Given the description of an element on the screen output the (x, y) to click on. 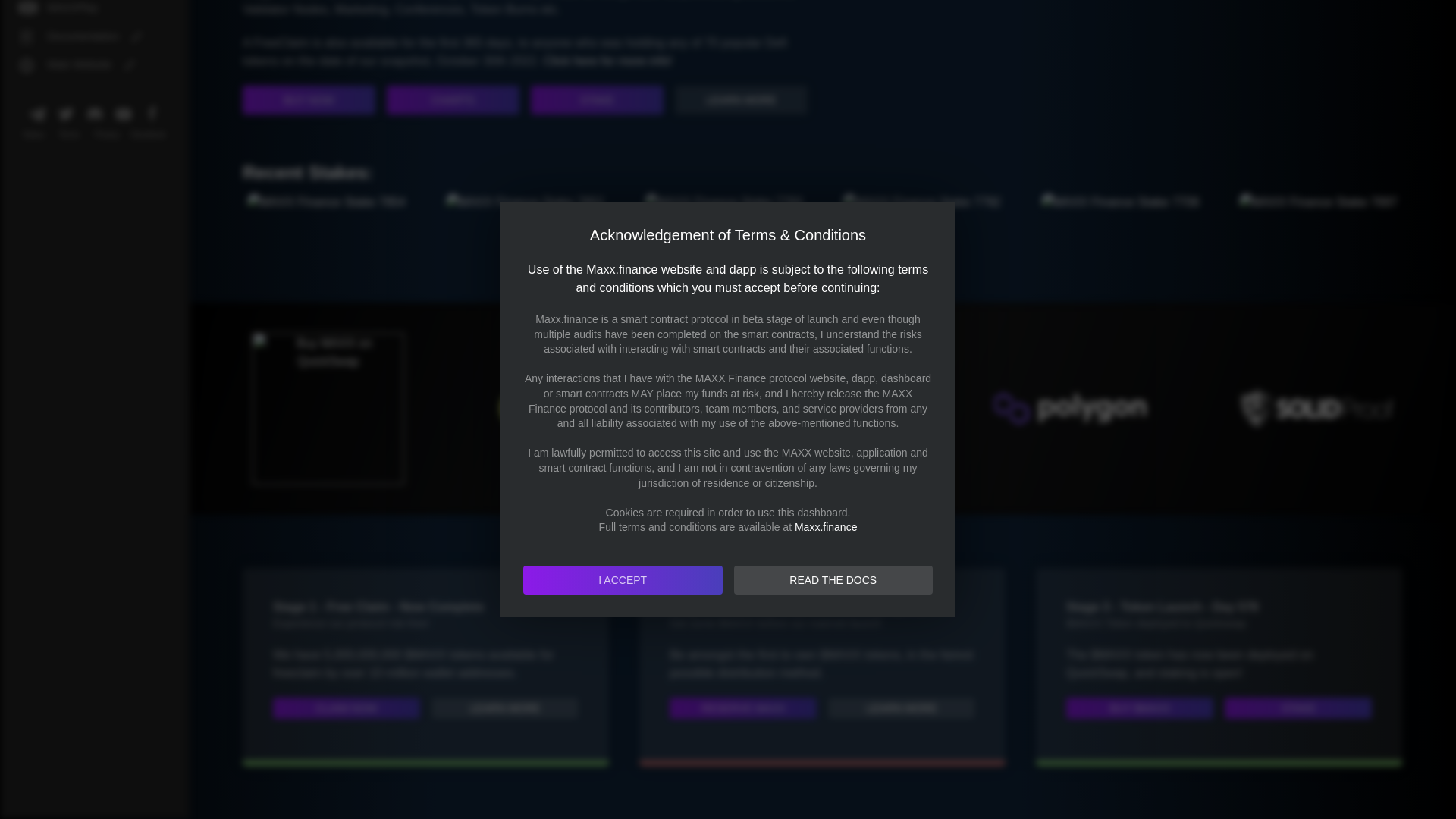
MAXX Finance Stake 7852 (524, 202)
MAXX Finance Stake 7792 (922, 202)
I ACCEPT (622, 269)
Telegram (36, 113)
MAXX Finance Stake 7708 (1119, 202)
MAXX Finance Stake 7854 (326, 202)
MAXX Finance Stake 7793 (723, 202)
READ THE DOCS (833, 269)
DEXTools Trading Chart (1120, 49)
Maxx.finance (825, 216)
